Given the description of an element on the screen output the (x, y) to click on. 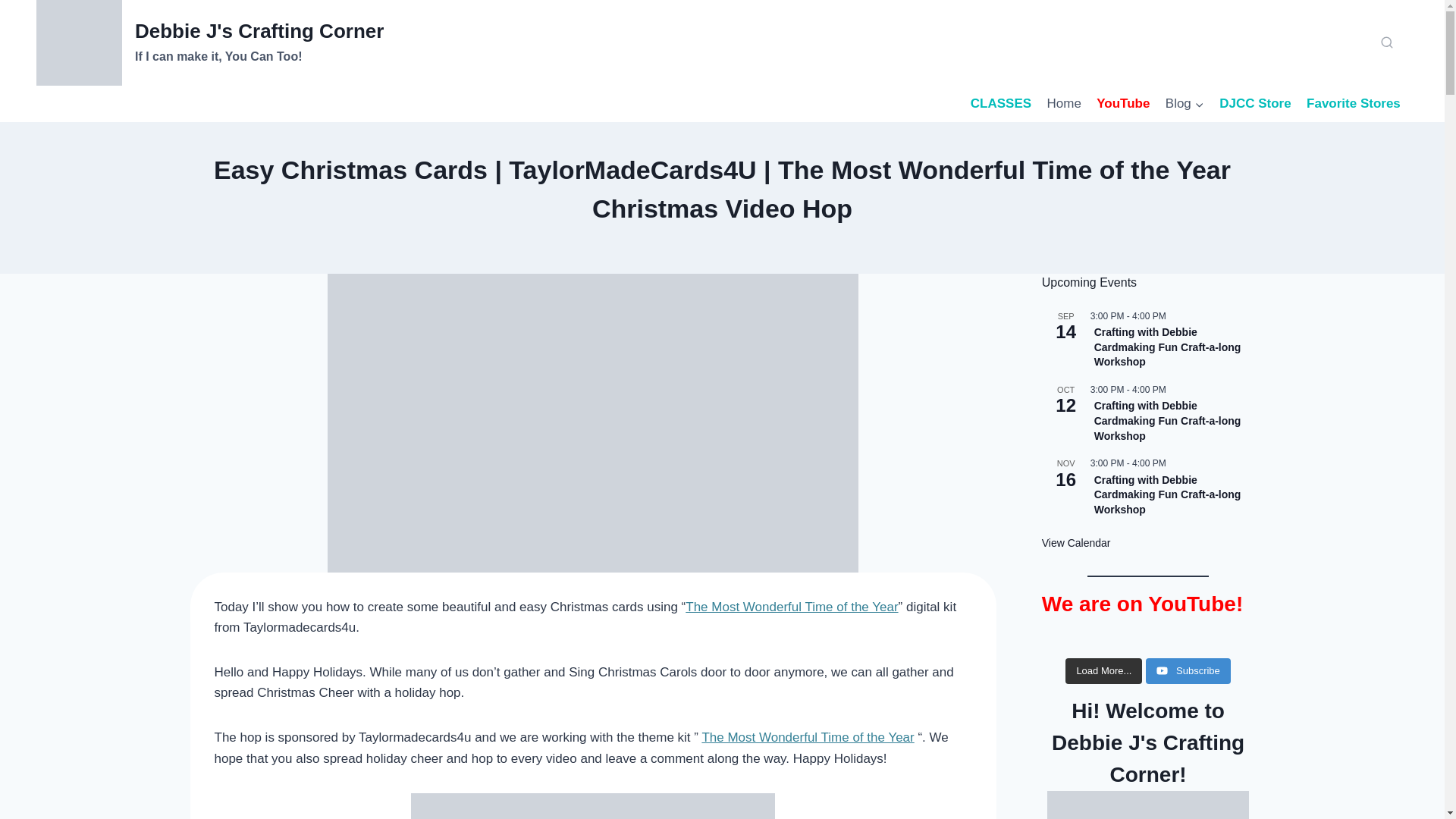
Crafting with Debbie Cardmaking Fun Craft-a-long Workshop (1167, 420)
DJCC Store (1254, 103)
The Most Wonderful Time of the Year (807, 737)
Blog (1184, 103)
YouTube (1123, 103)
Favorite Stores (1352, 103)
The Most Wonderful Time of the Year (791, 606)
CLASSES (1000, 103)
View more events. (1076, 543)
Crafting with Debbie Cardmaking Fun Craft-a-long Workshop (1167, 346)
